Given the description of an element on the screen output the (x, y) to click on. 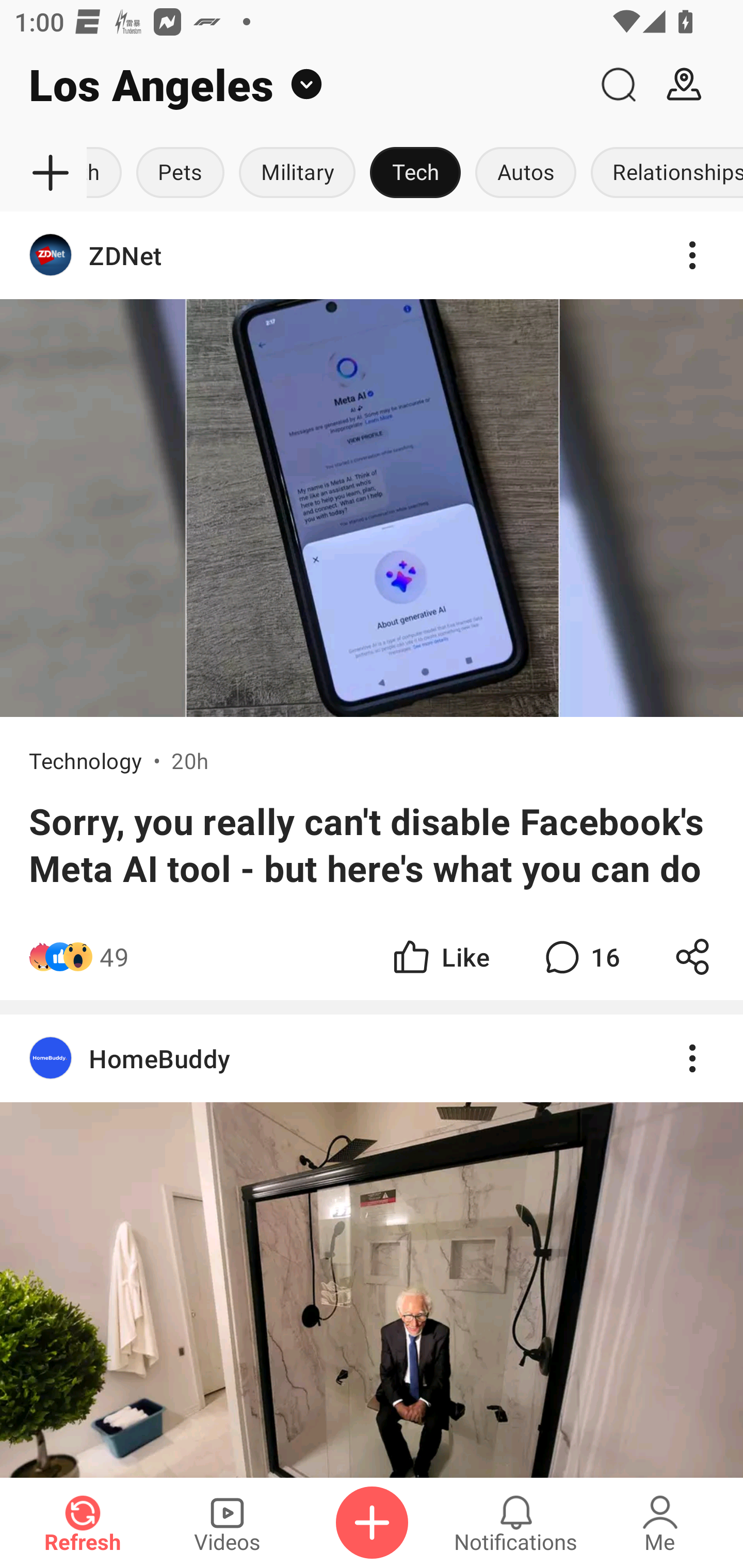
Los Angeles (292, 84)
Pets (180, 172)
Military (296, 172)
Tech (415, 172)
Autos (525, 172)
Relationships (663, 172)
ZDNet (371, 255)
49 (114, 957)
Like (439, 957)
16 (579, 957)
HomeBuddy (159, 1058)
Videos (227, 1522)
Notifications (516, 1522)
Me (659, 1522)
